Given the description of an element on the screen output the (x, y) to click on. 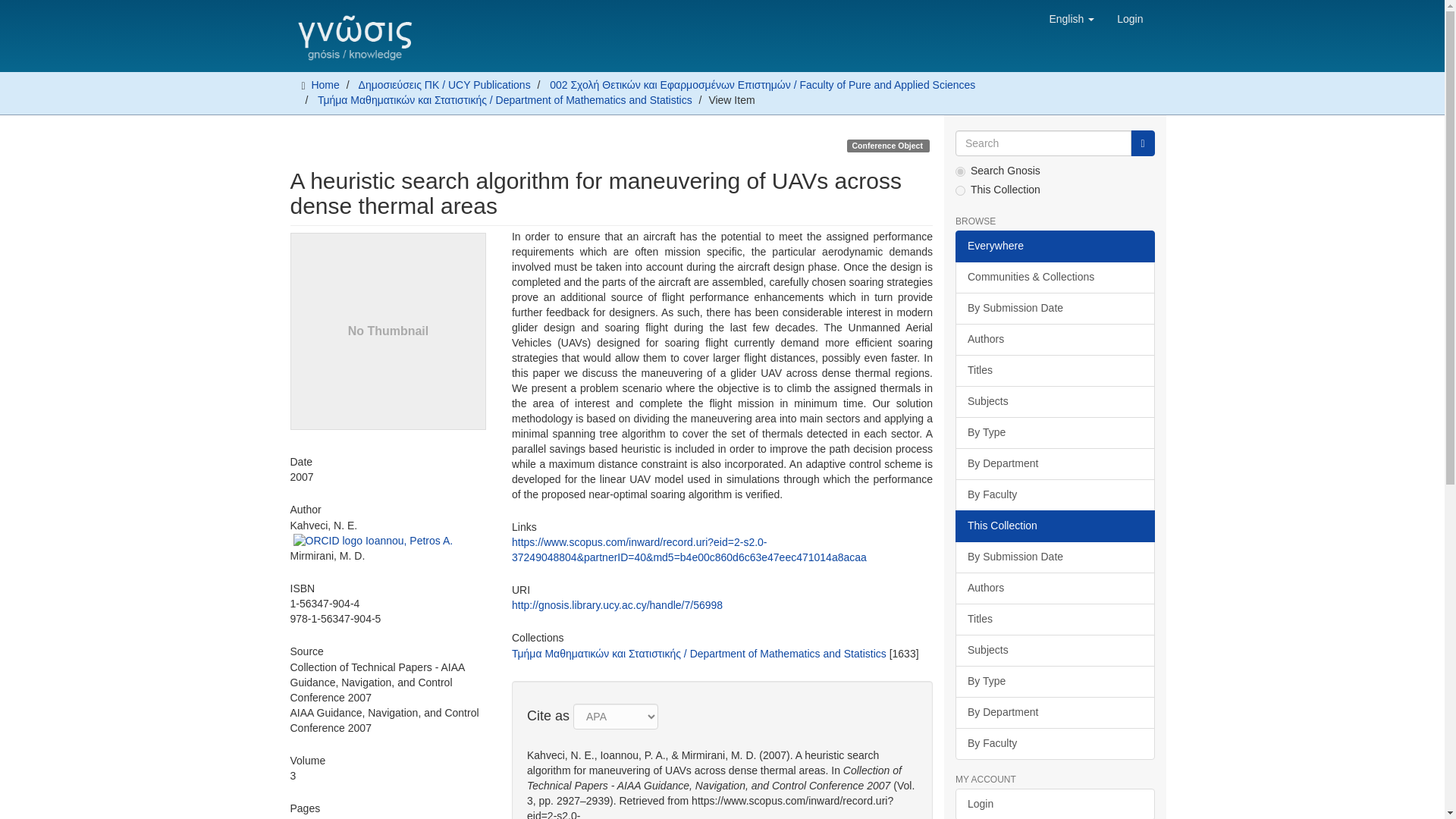
English  (1070, 18)
Login (1129, 18)
Ioannou, Petros A. (408, 540)
Home (325, 84)
Everywhere (1054, 246)
Go (1142, 143)
